Given the description of an element on the screen output the (x, y) to click on. 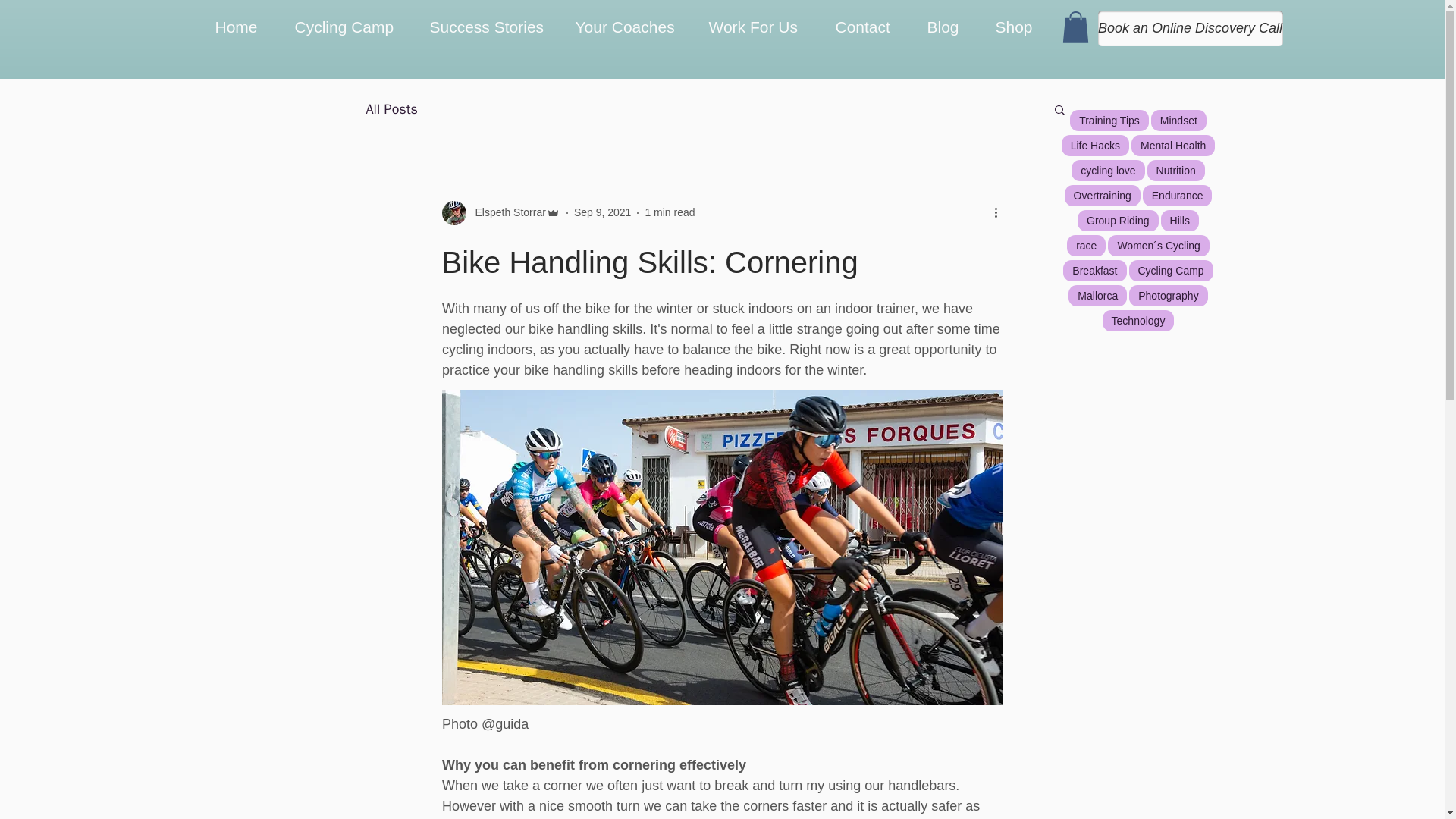
Elspeth Storrar (504, 212)
Training Tips (1109, 120)
All Posts (390, 108)
cycling love (1107, 169)
Shop (1020, 26)
1 min read (669, 212)
Elspeth Storrar (500, 212)
Your Coaches (630, 26)
Cycling Camp (351, 26)
Home (242, 26)
